Given the description of an element on the screen output the (x, y) to click on. 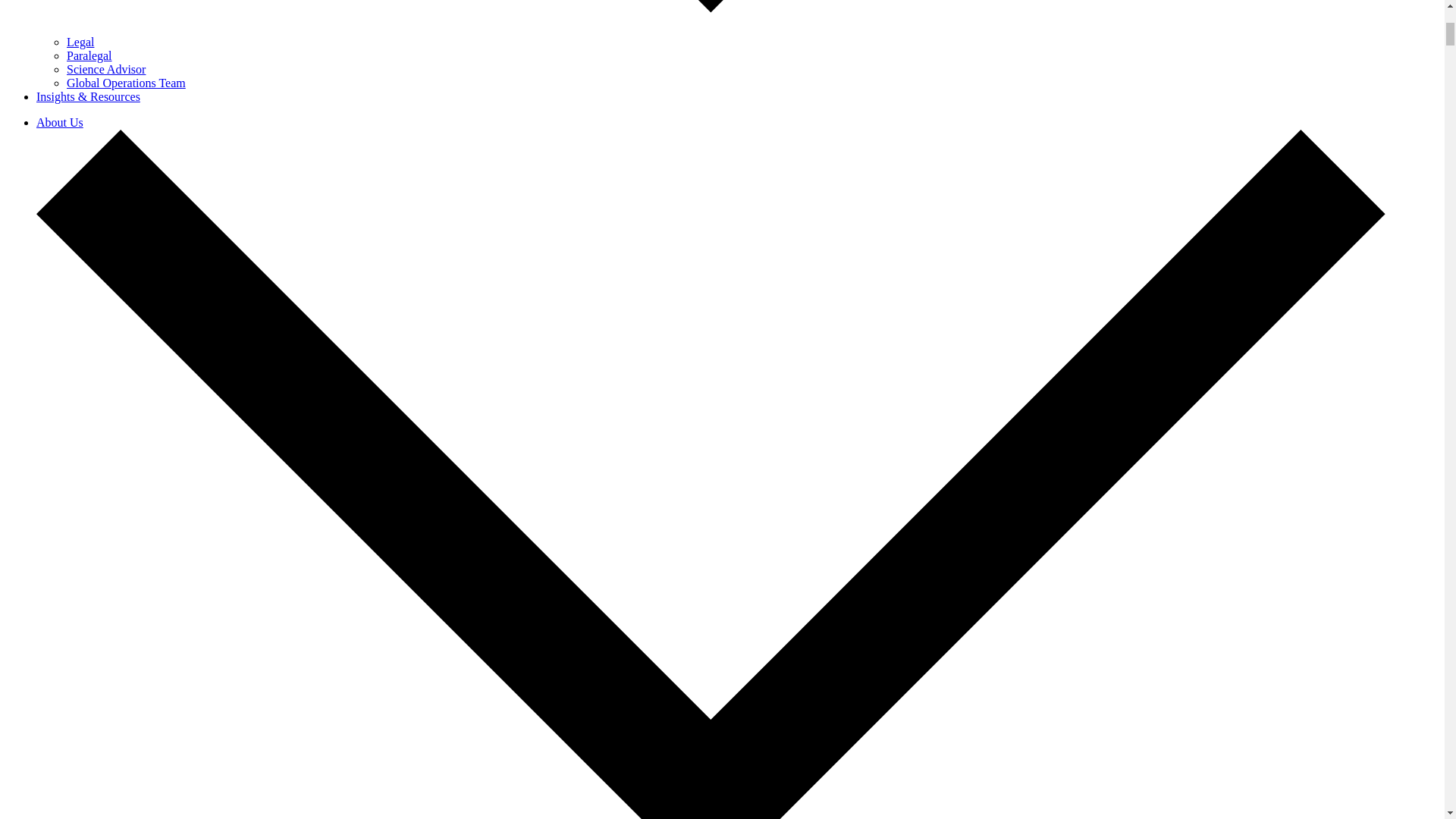
Legal (80, 42)
Global Operations Team (126, 82)
Science Advisor (105, 69)
Paralegal (89, 55)
